Given the description of an element on the screen output the (x, y) to click on. 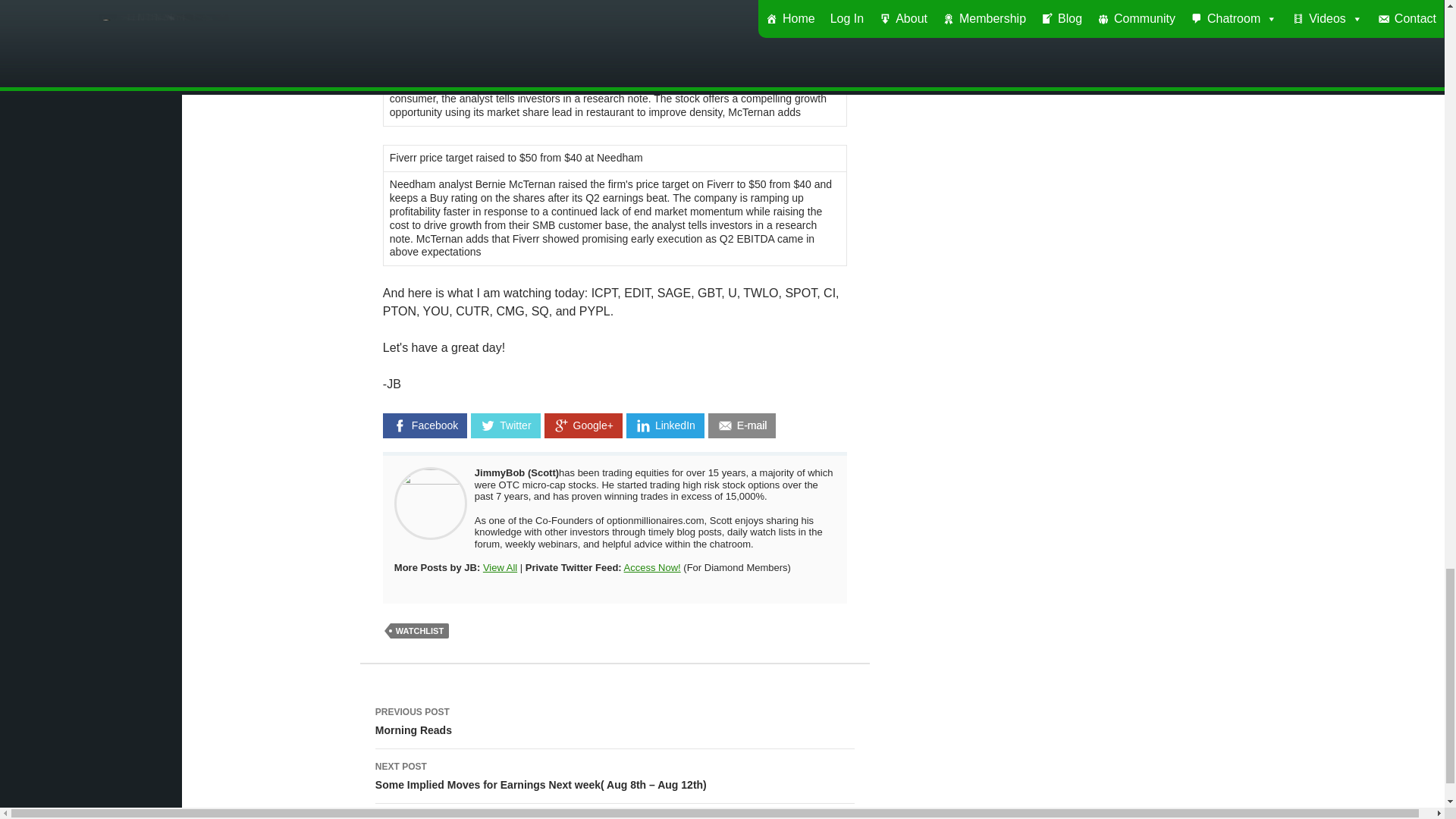
Share this article on LinkedIn (665, 425)
Share this article on Twitter (505, 425)
Share this article on Facebook (424, 425)
